Given the description of an element on the screen output the (x, y) to click on. 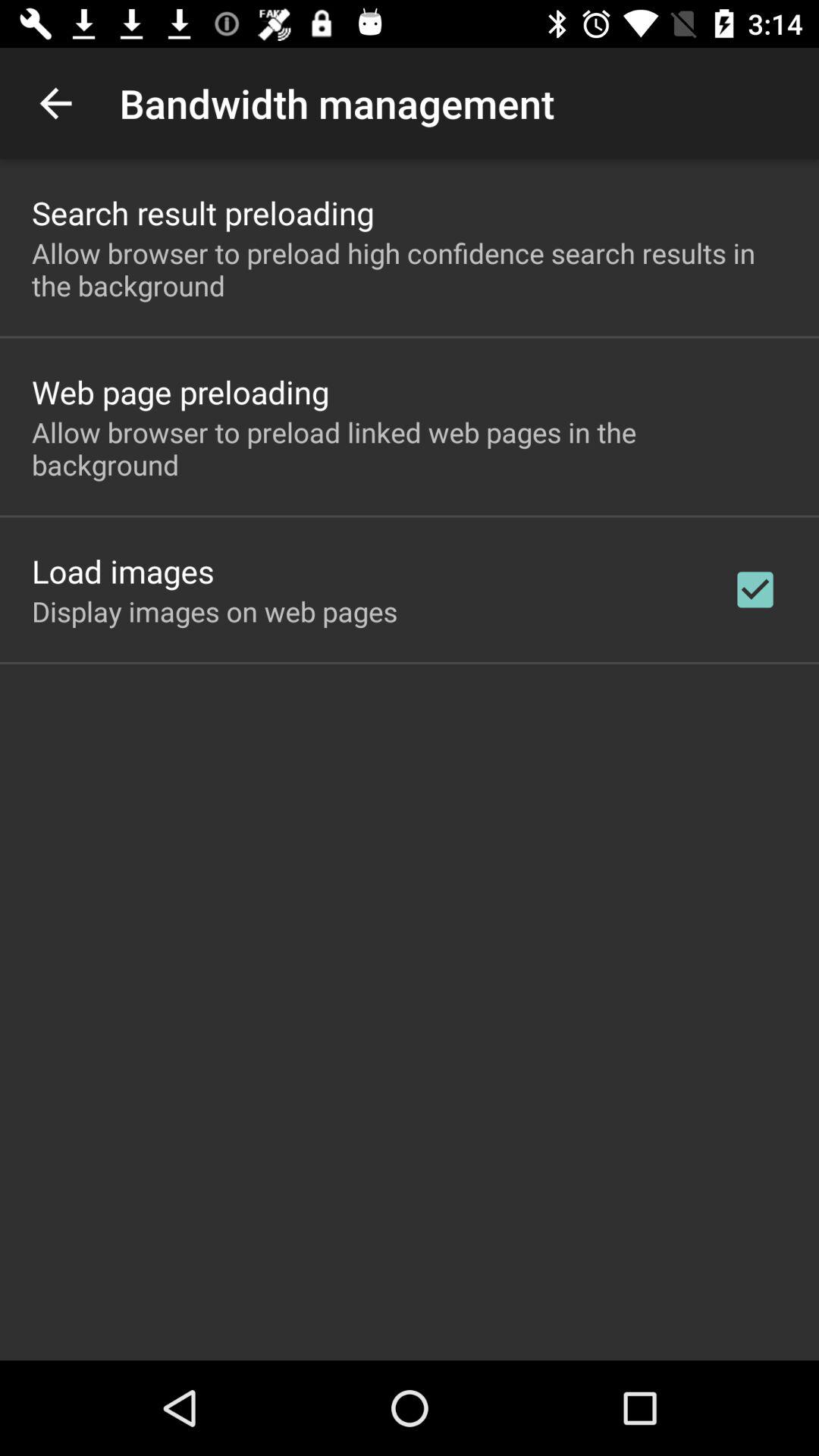
tap display images on (214, 611)
